Given the description of an element on the screen output the (x, y) to click on. 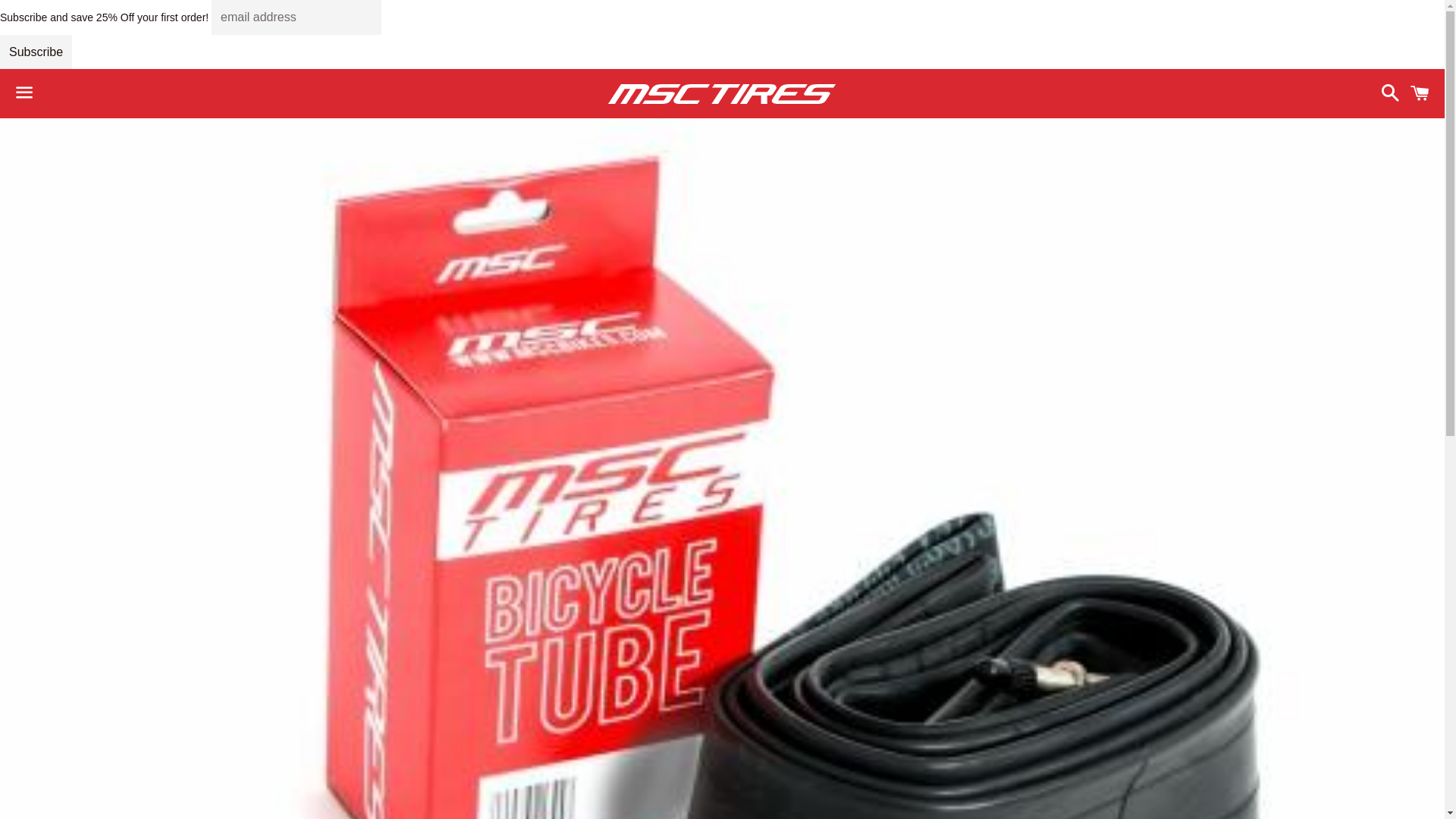
Cart Element type: text (1419, 93)
Subscribe Element type: text (36, 51)
Menu Element type: text (24, 93)
Search Element type: text (1386, 93)
